Given the description of an element on the screen output the (x, y) to click on. 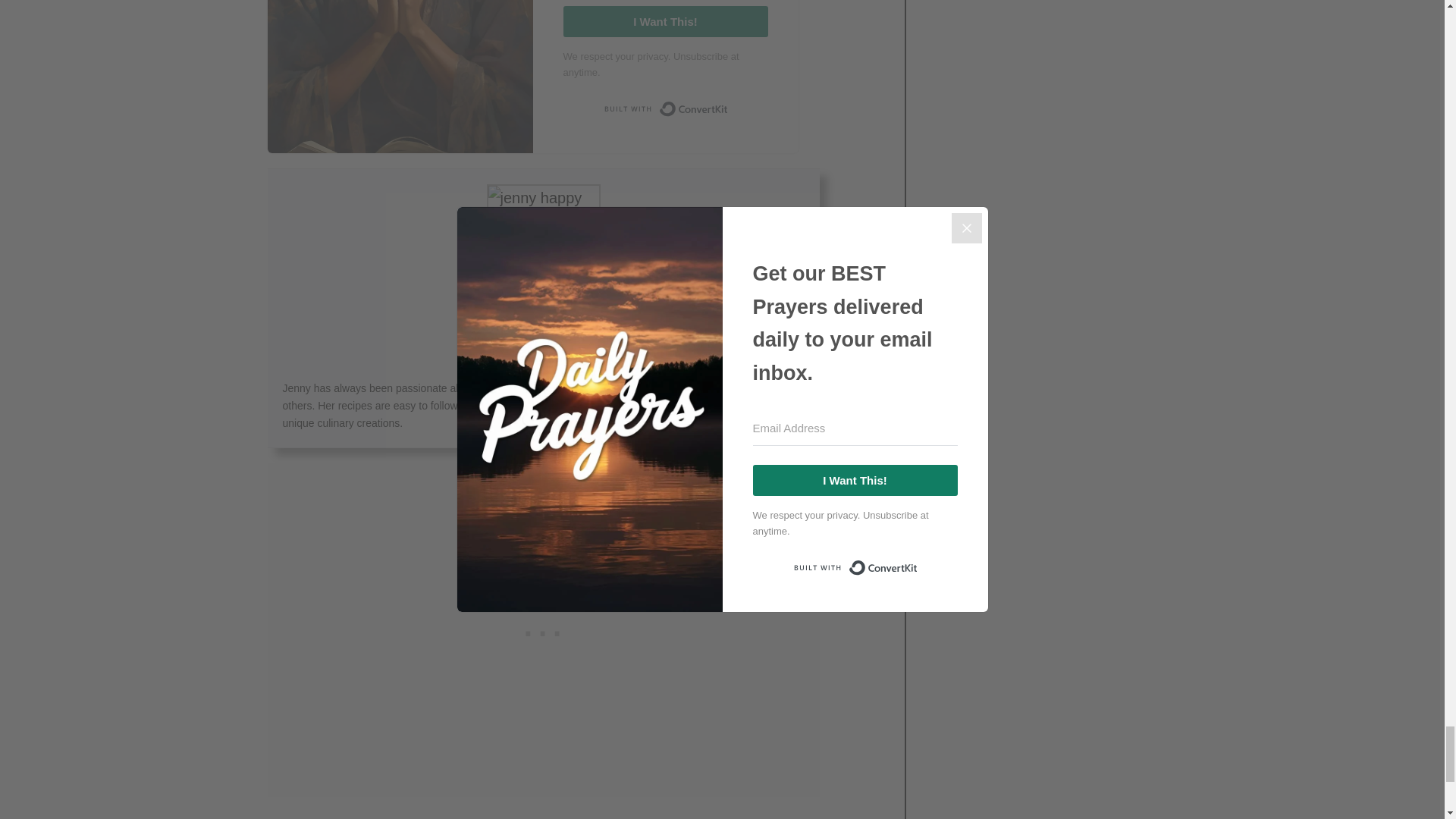
Website (549, 357)
Jenny (543, 325)
I Want This! (664, 20)
Built with ConvertKit (665, 108)
